Given the description of an element on the screen output the (x, y) to click on. 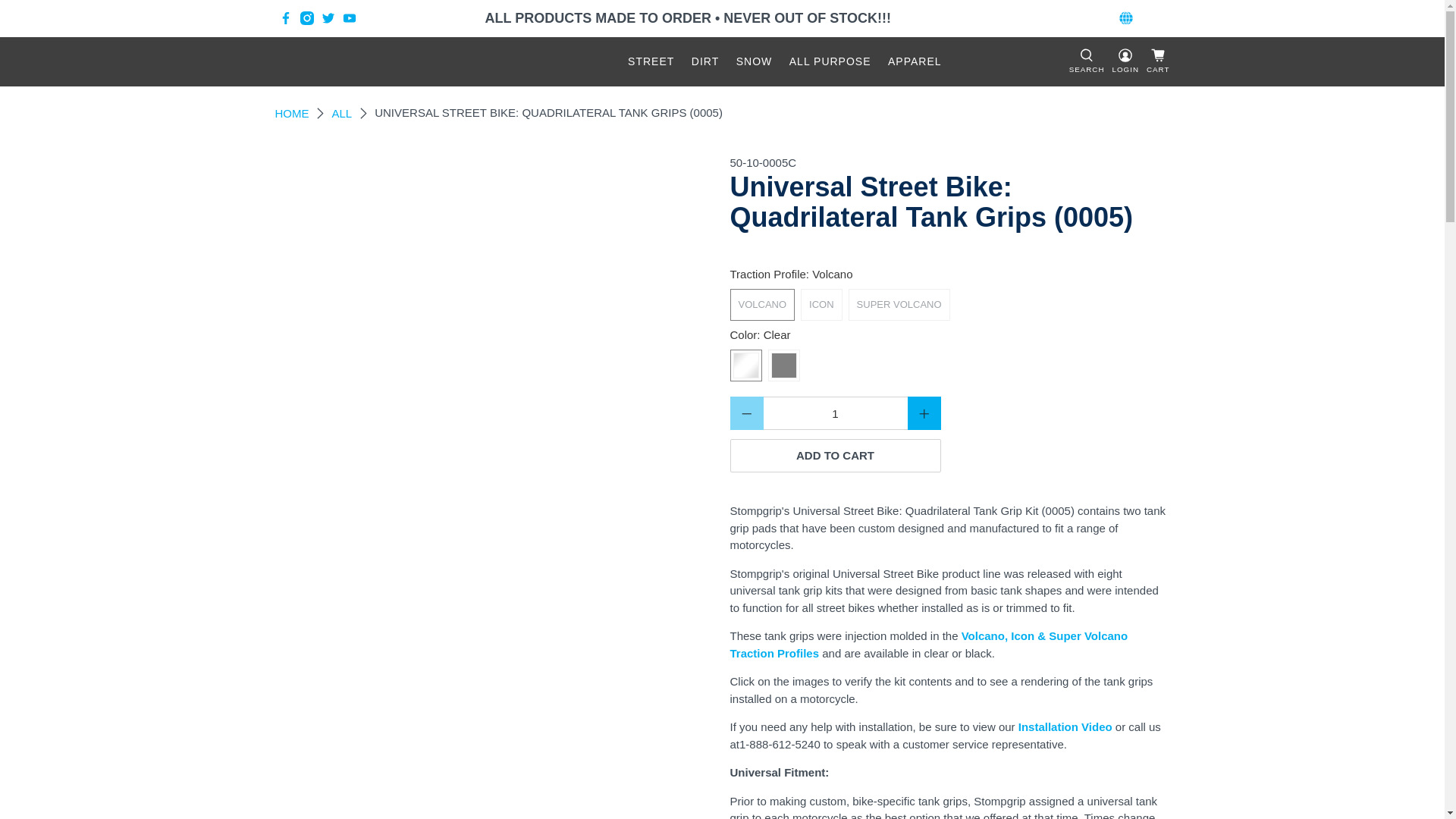
1 (834, 412)
Stompgrip on Facebook (285, 18)
DIRT (705, 61)
Stompgrip on Twitter (327, 18)
Stompgrip (389, 62)
ALL PURPOSE (829, 61)
APPAREL (914, 61)
SNOW (753, 61)
Stompgrip on Instagram (306, 18)
Stompgrip (291, 112)
Stompgrip on YouTube (349, 18)
STREET (651, 61)
